Given the description of an element on the screen output the (x, y) to click on. 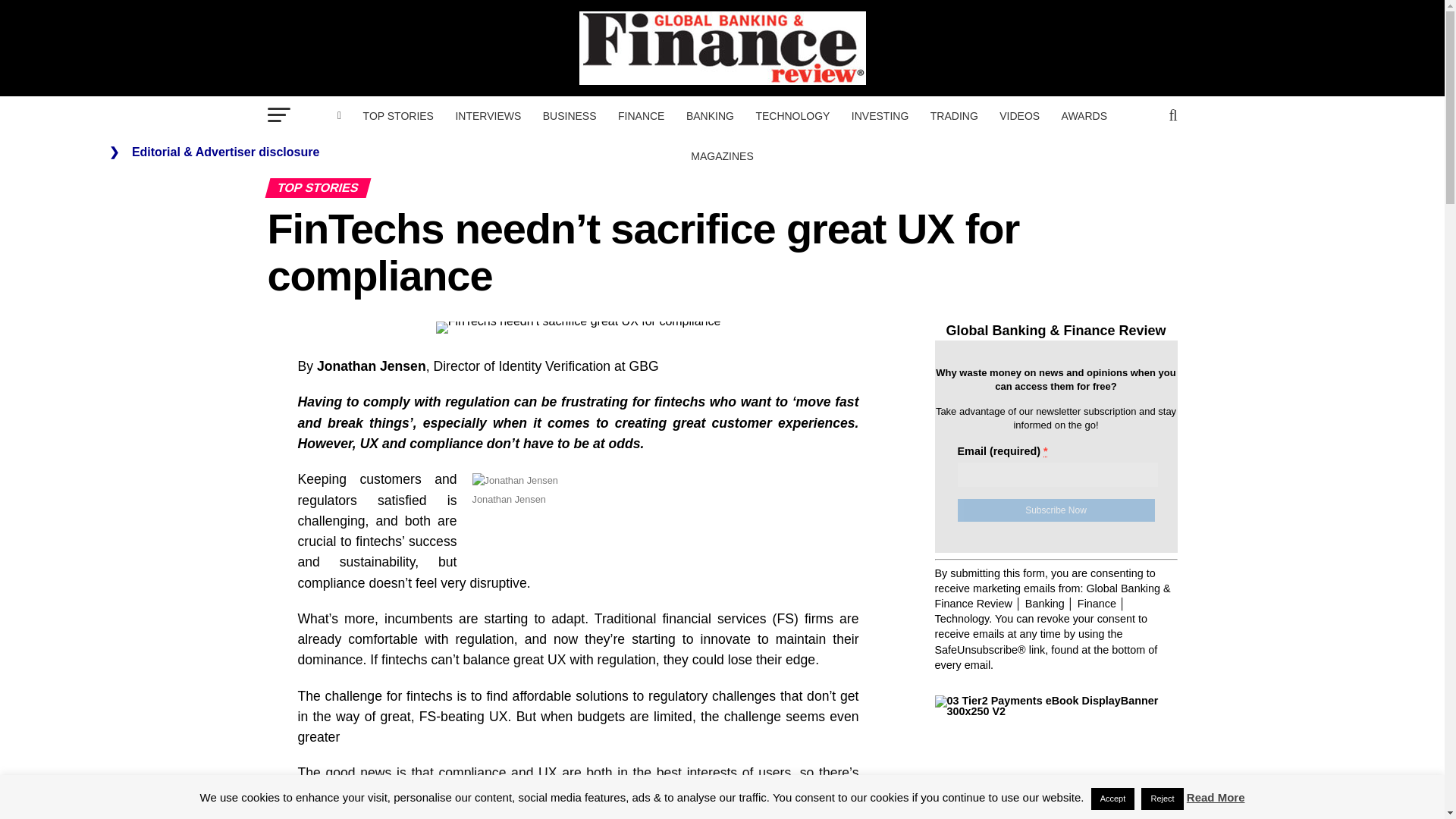
Interviews (487, 116)
MAGAZINES (721, 156)
Finance (640, 116)
BANKING (709, 116)
FINANCE (640, 116)
AWARDS (1084, 116)
TOP STORIES (397, 116)
Banking (709, 116)
INTERVIEWS (487, 116)
VIDEOS (1019, 116)
Subscribe Now (1055, 509)
Business (569, 116)
TECHNOLOGY (791, 116)
TRADING (954, 116)
Subscribe Now (1055, 509)
